Given the description of an element on the screen output the (x, y) to click on. 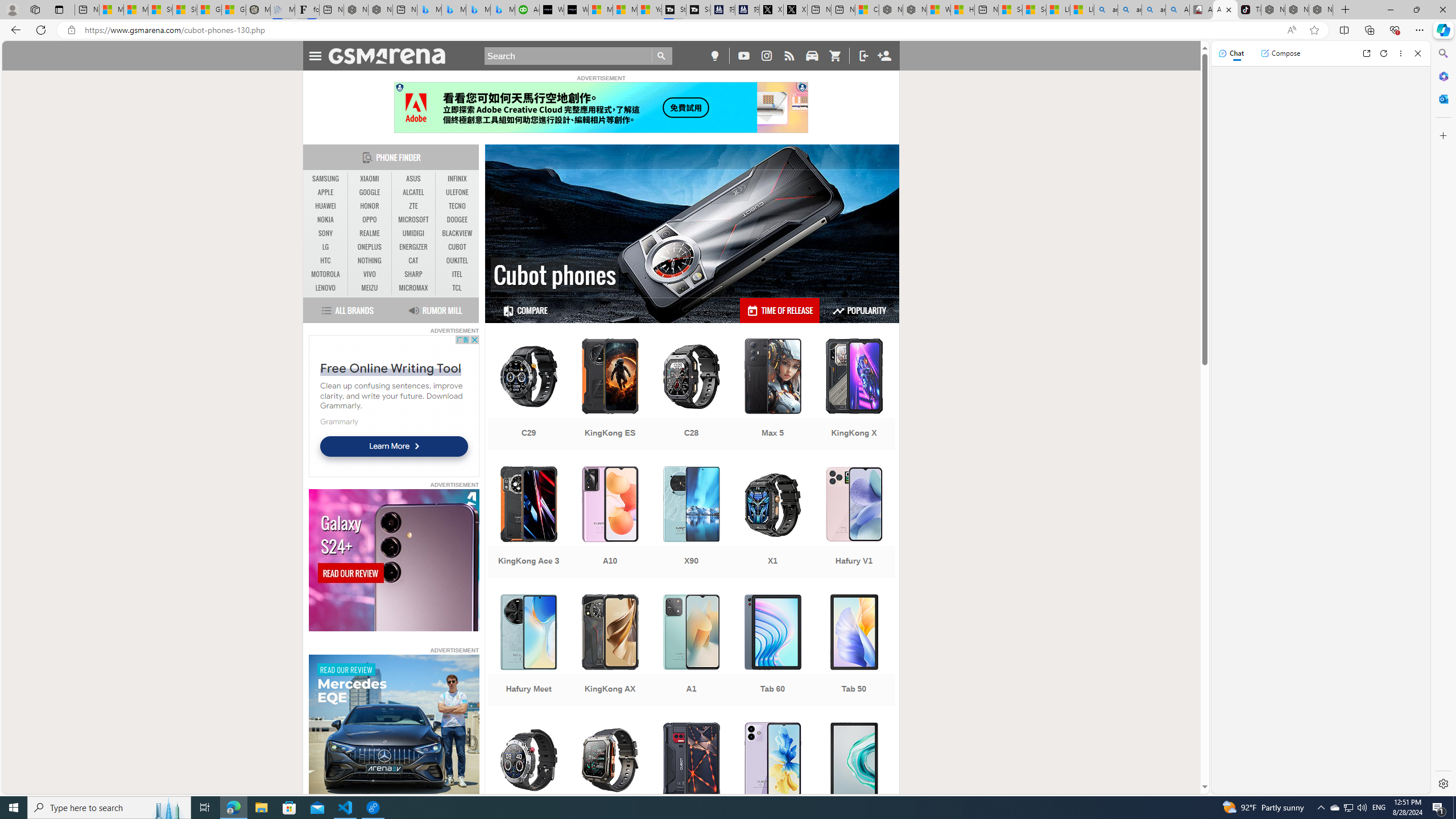
XIAOMI (369, 178)
SAMSUNG (325, 178)
CAT (413, 260)
Hafury V1 (853, 523)
Chat (1231, 52)
To get missing image descriptions, open the context menu. (393, 726)
SHARP (413, 273)
TECNO (457, 205)
